Given the description of an element on the screen output the (x, y) to click on. 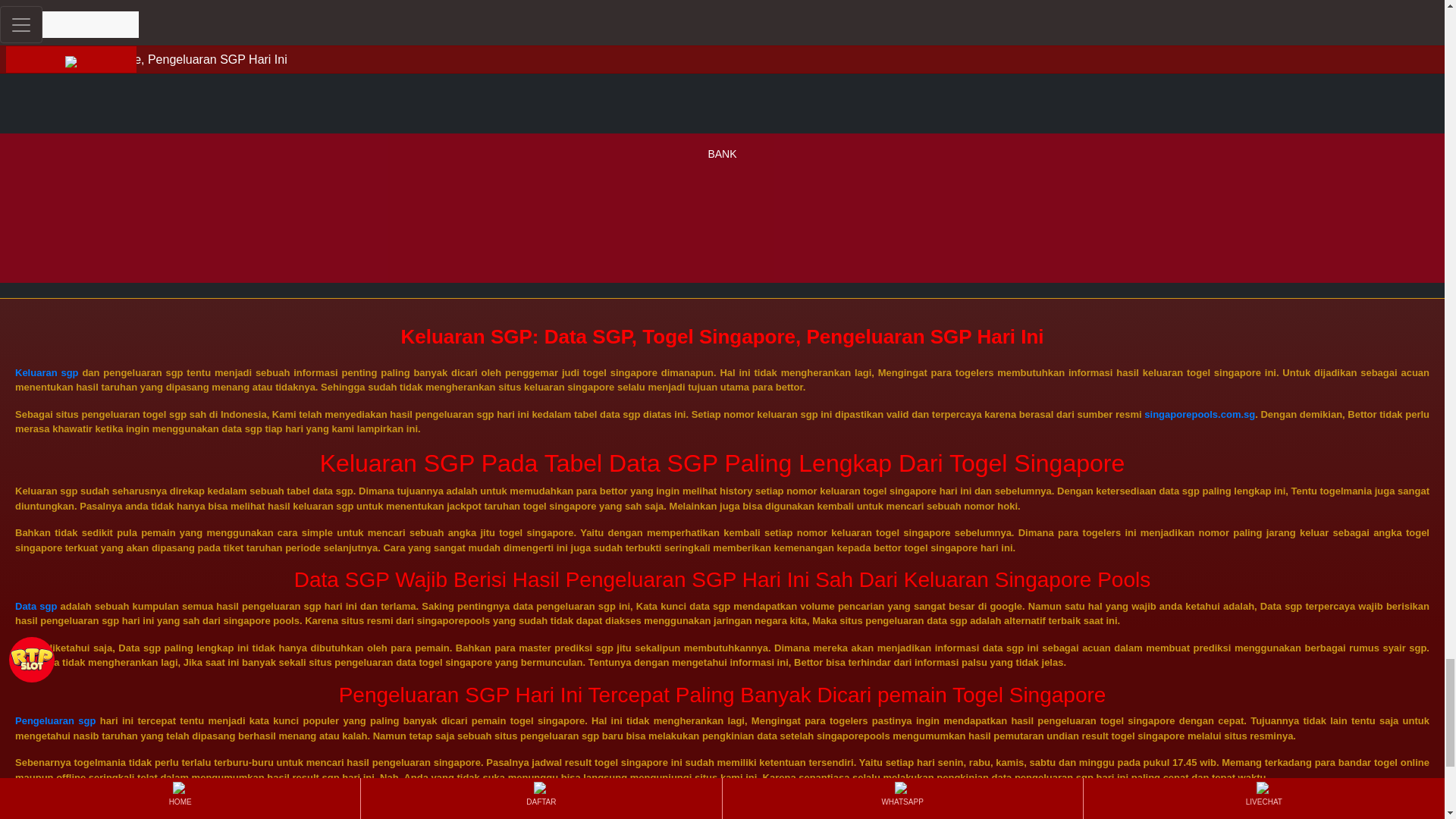
Data sgp (35, 605)
singaporepools.com.sg (1199, 414)
Pengeluaran sgp (55, 720)
Keluaran sgp (46, 372)
